Given the description of an element on the screen output the (x, y) to click on. 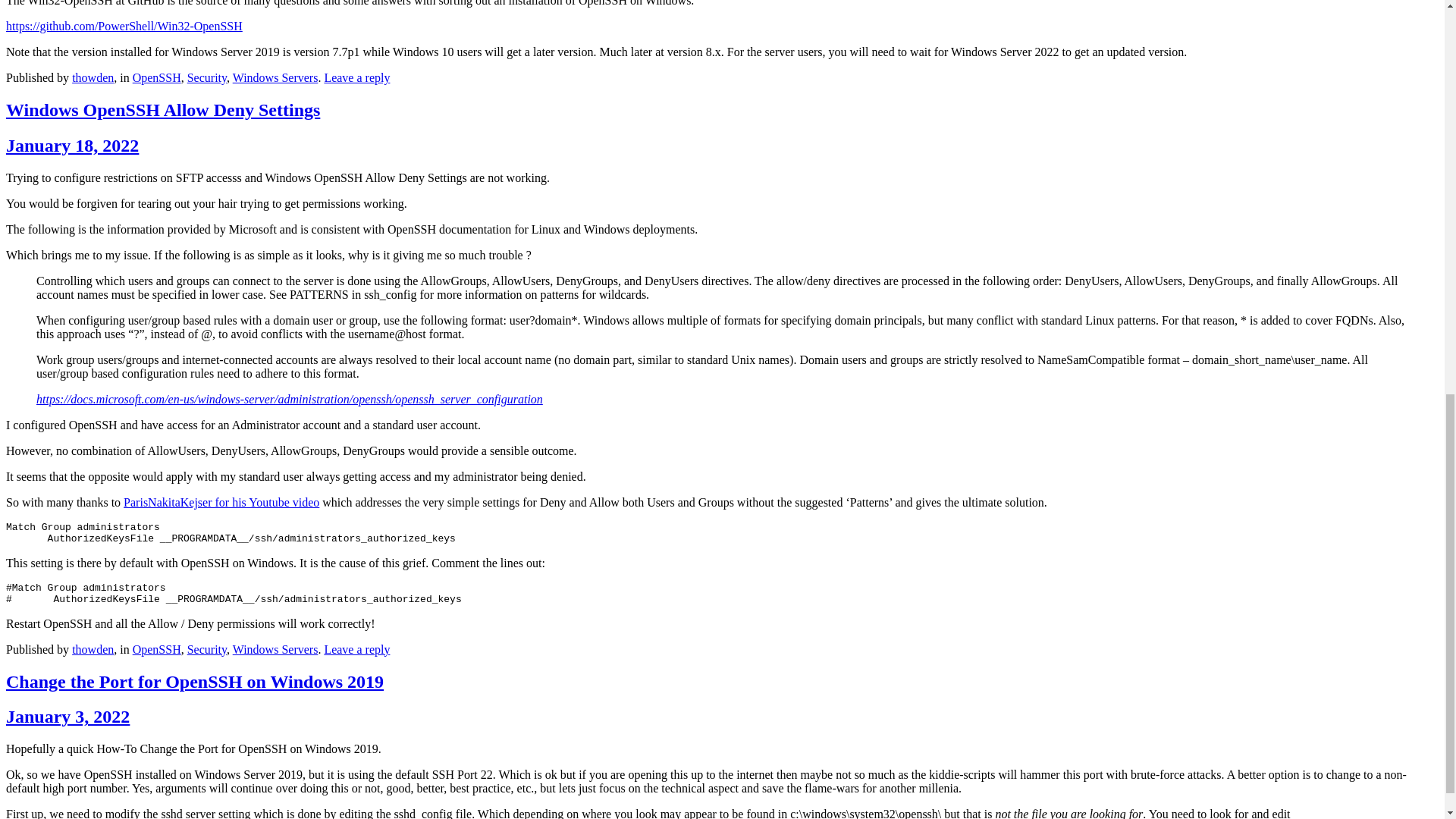
11:00 pm (71, 145)
Windows OpenSSH Allow Deny Settings (162, 109)
Windows Servers (275, 77)
Windows Servers (275, 649)
thowden (92, 649)
Change the Port for OpenSSH on Windows 2019 (194, 681)
January 18, 2022 (71, 145)
8:52 pm (67, 716)
Security (207, 649)
OpenSSH (156, 77)
OpenSSH (156, 649)
Security (207, 77)
Permalink to Windows OpenSSH Allow Deny Settings (162, 109)
Permalink to Change the Port for OpenSSH on Windows 2019 (194, 681)
Leave a reply (356, 77)
